Given the description of an element on the screen output the (x, y) to click on. 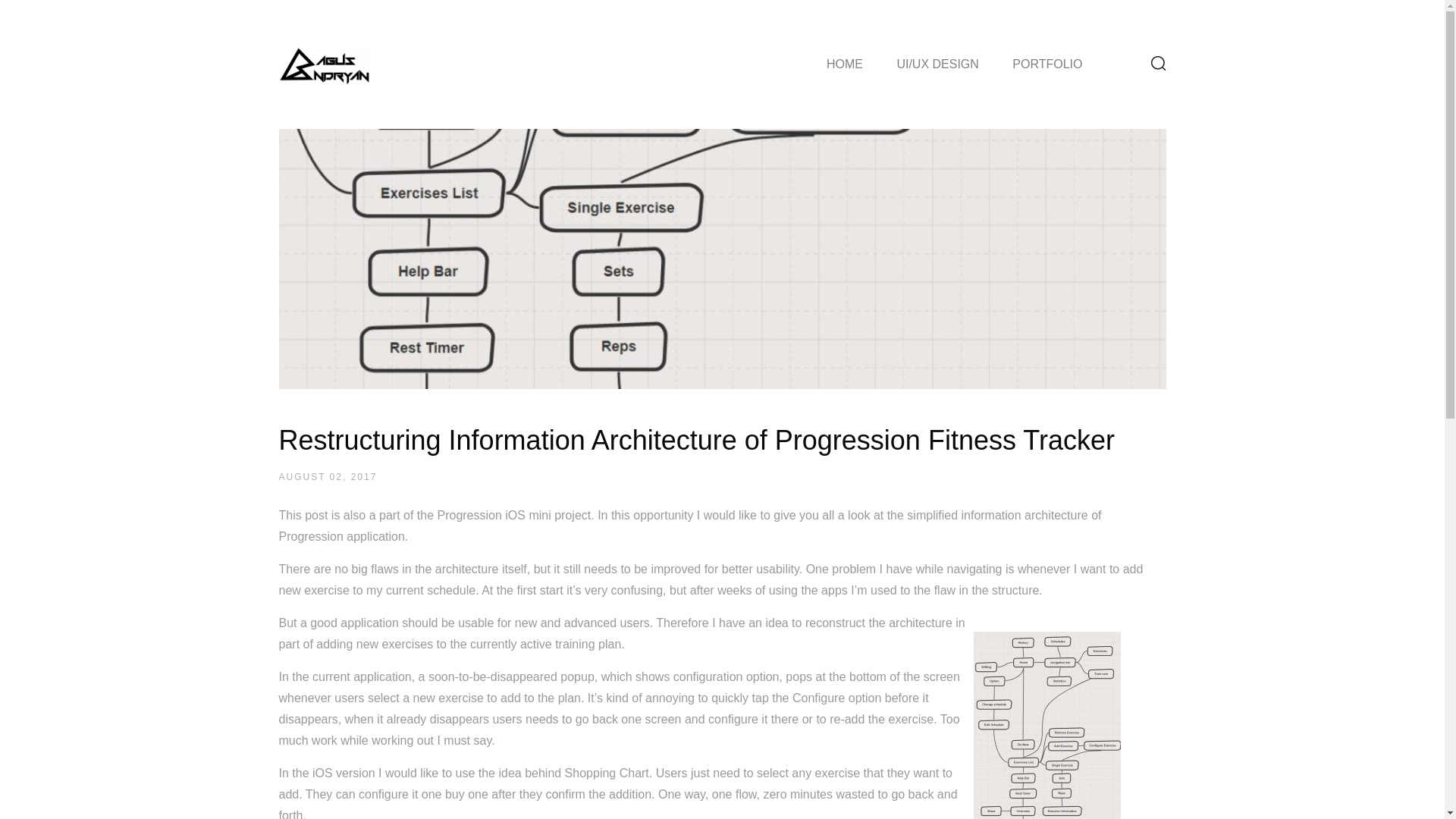
PORTFOLIO (1046, 63)
Search (1137, 146)
HOME (845, 63)
